Given the description of an element on the screen output the (x, y) to click on. 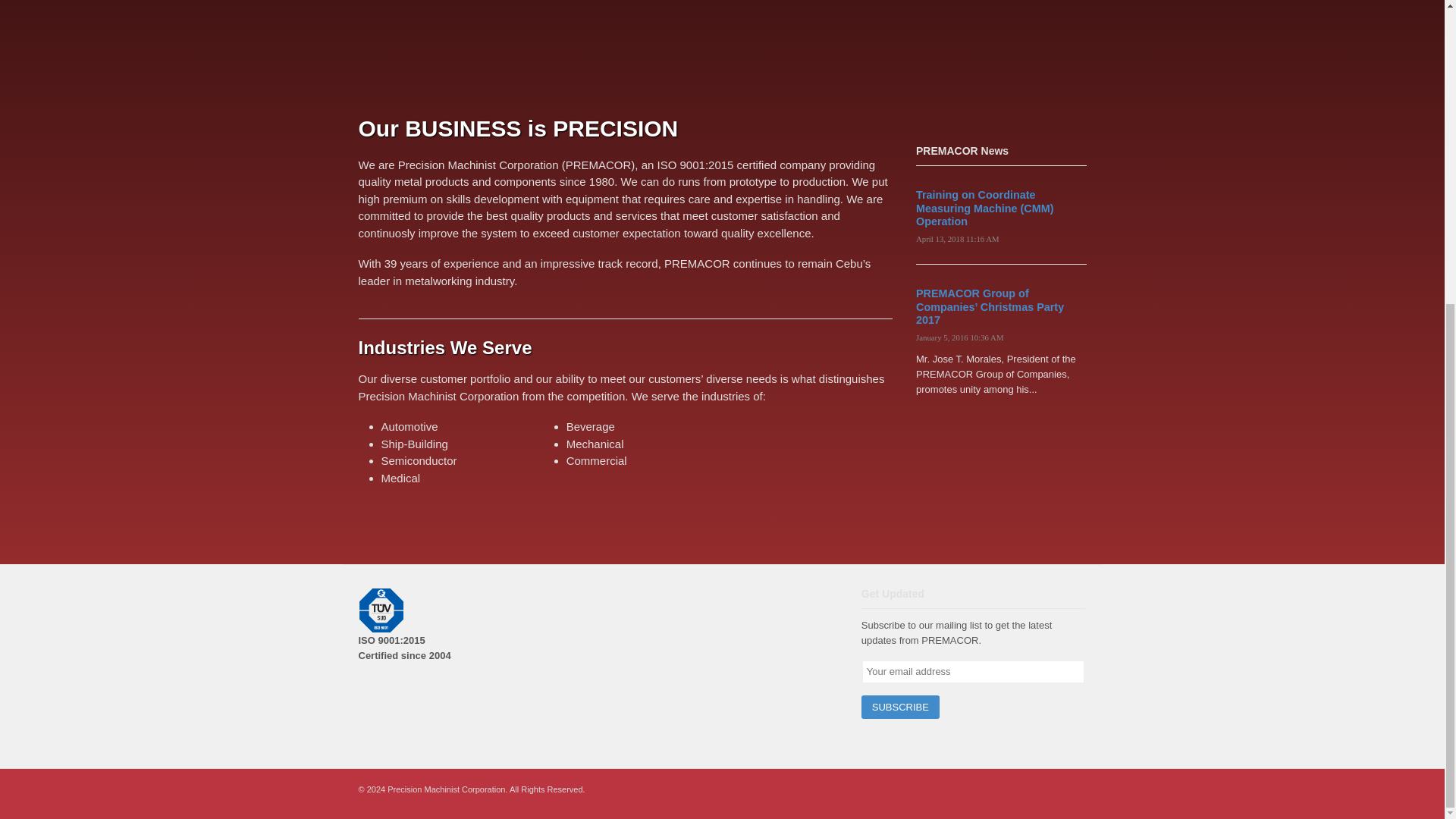
SUBSCRIBE (900, 707)
SUBSCRIBE (900, 707)
